Given the description of an element on the screen output the (x, y) to click on. 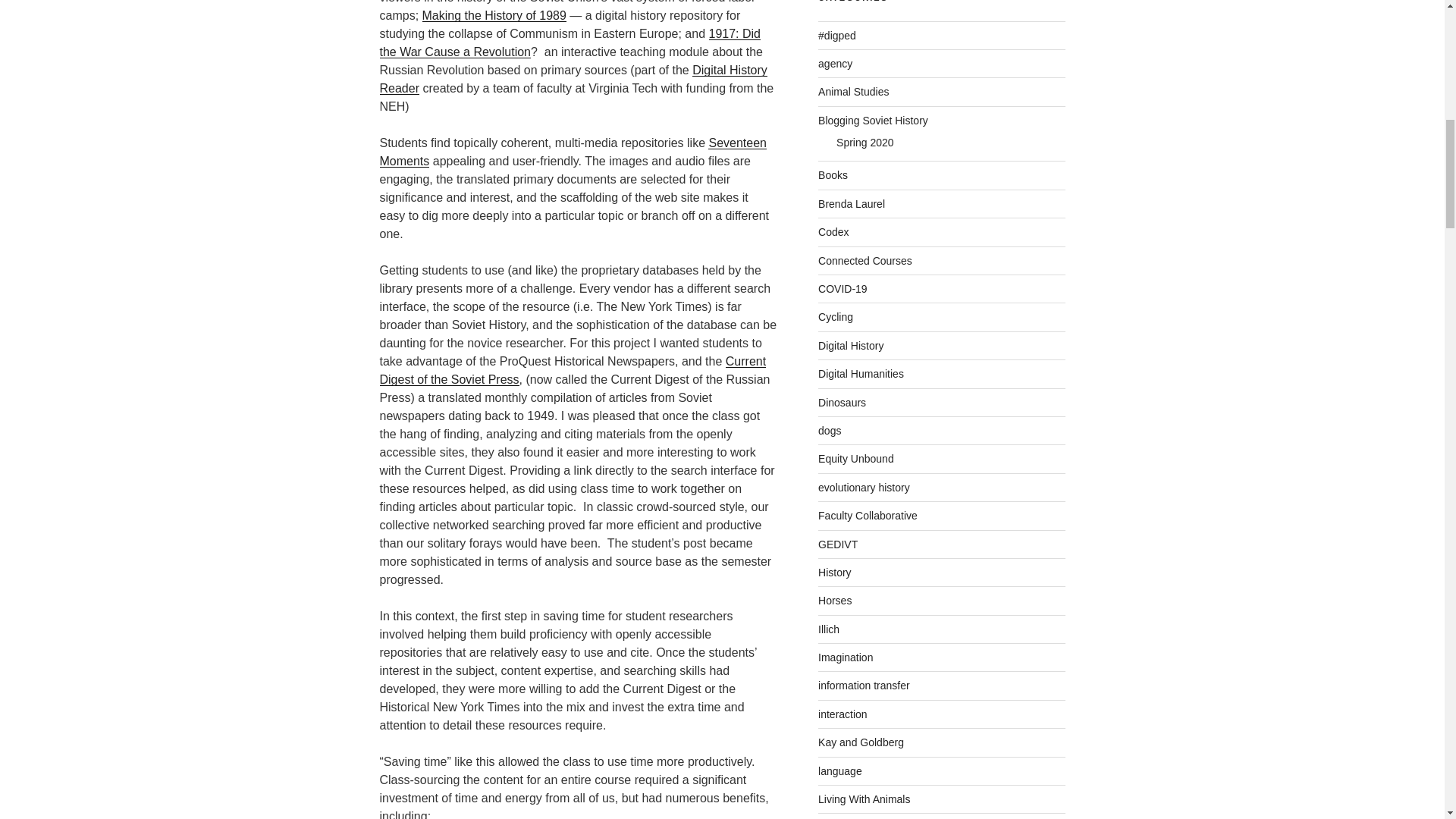
Digital History Reader (572, 79)
DHR Module 3: 1917 - did the War cause a Revolution? (569, 42)
1917: Did the War Cause a Revolution (569, 42)
Seventeen Moments in Soviet History (572, 151)
Making the History of 1989 (494, 15)
Seventeen Moments (572, 151)
Digital History Reader (572, 79)
Current Digest of the Soviet Press (571, 369)
